Given the description of an element on the screen output the (x, y) to click on. 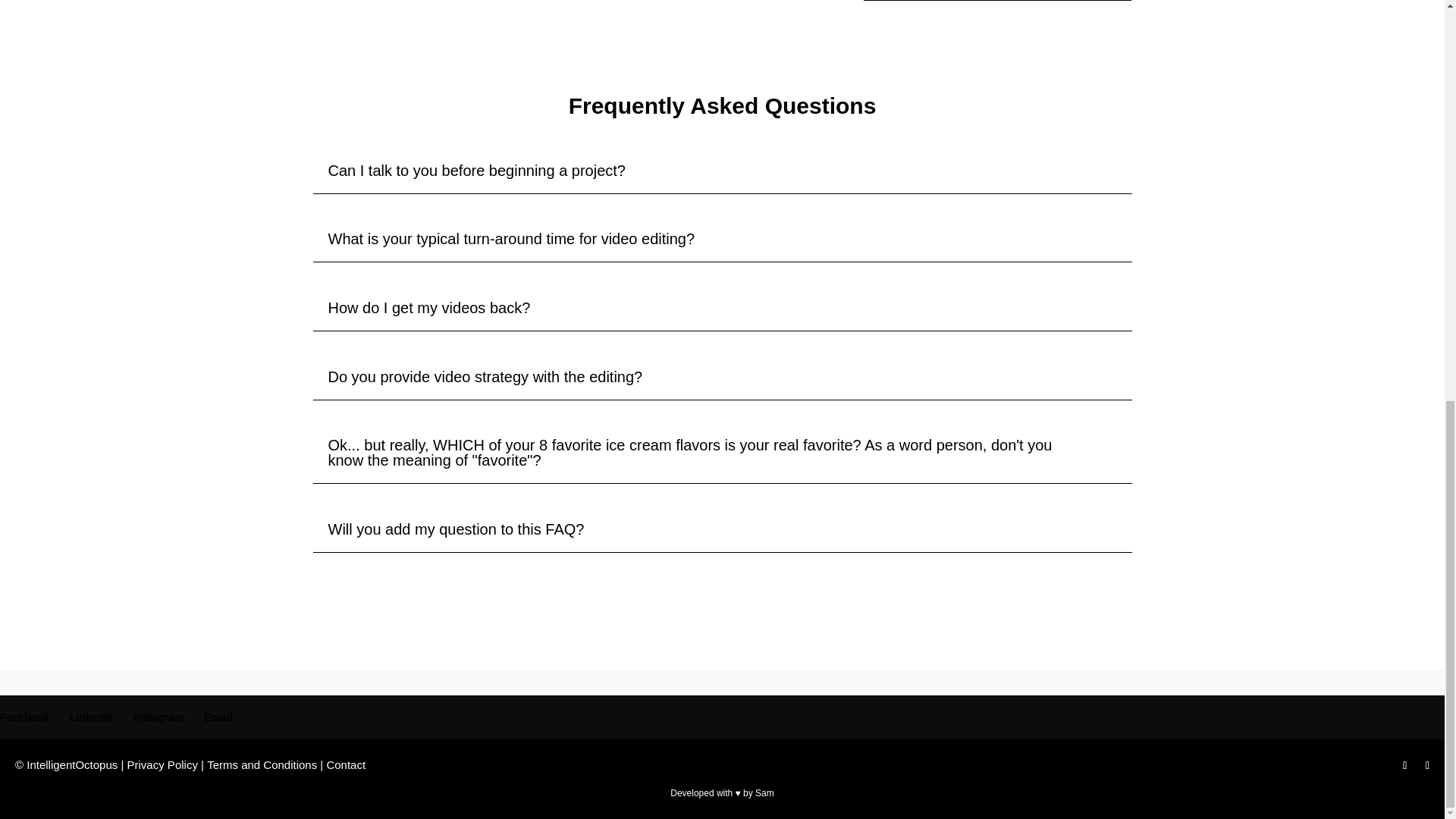
Contact (345, 764)
Email (217, 717)
Privacy Policy (163, 764)
Sam (764, 792)
LinkedIn (91, 717)
Instagram (158, 717)
Terms and Conditions (261, 764)
Facebook (24, 717)
